Given the description of an element on the screen output the (x, y) to click on. 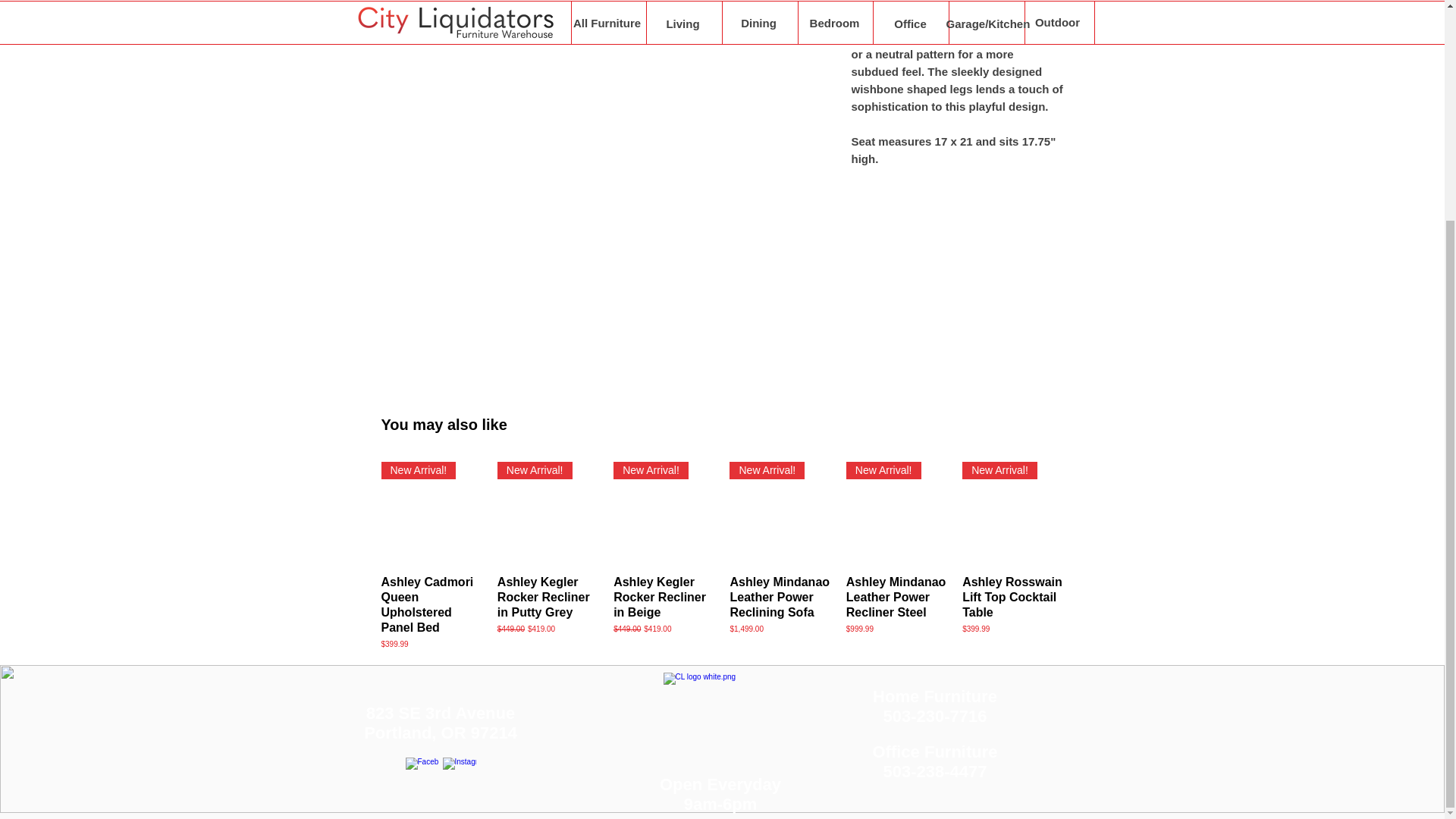
New Arrival! (779, 511)
New Arrival! (1012, 511)
New Arrival! (896, 511)
New Arrival! (430, 511)
New Arrival! (547, 511)
New Arrival! (663, 511)
